Given the description of an element on the screen output the (x, y) to click on. 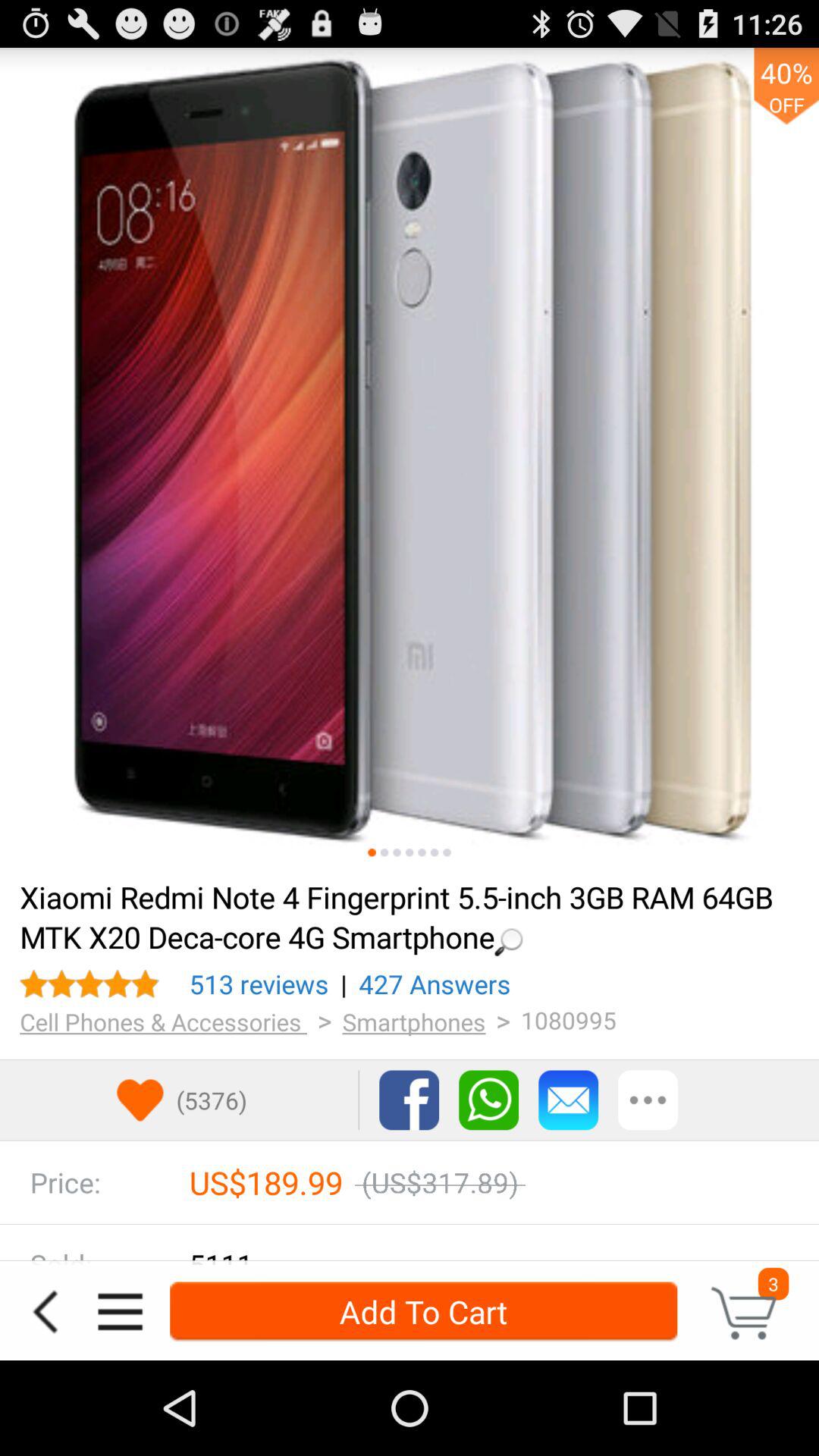
whatswapp (488, 1100)
